Given the description of an element on the screen output the (x, y) to click on. 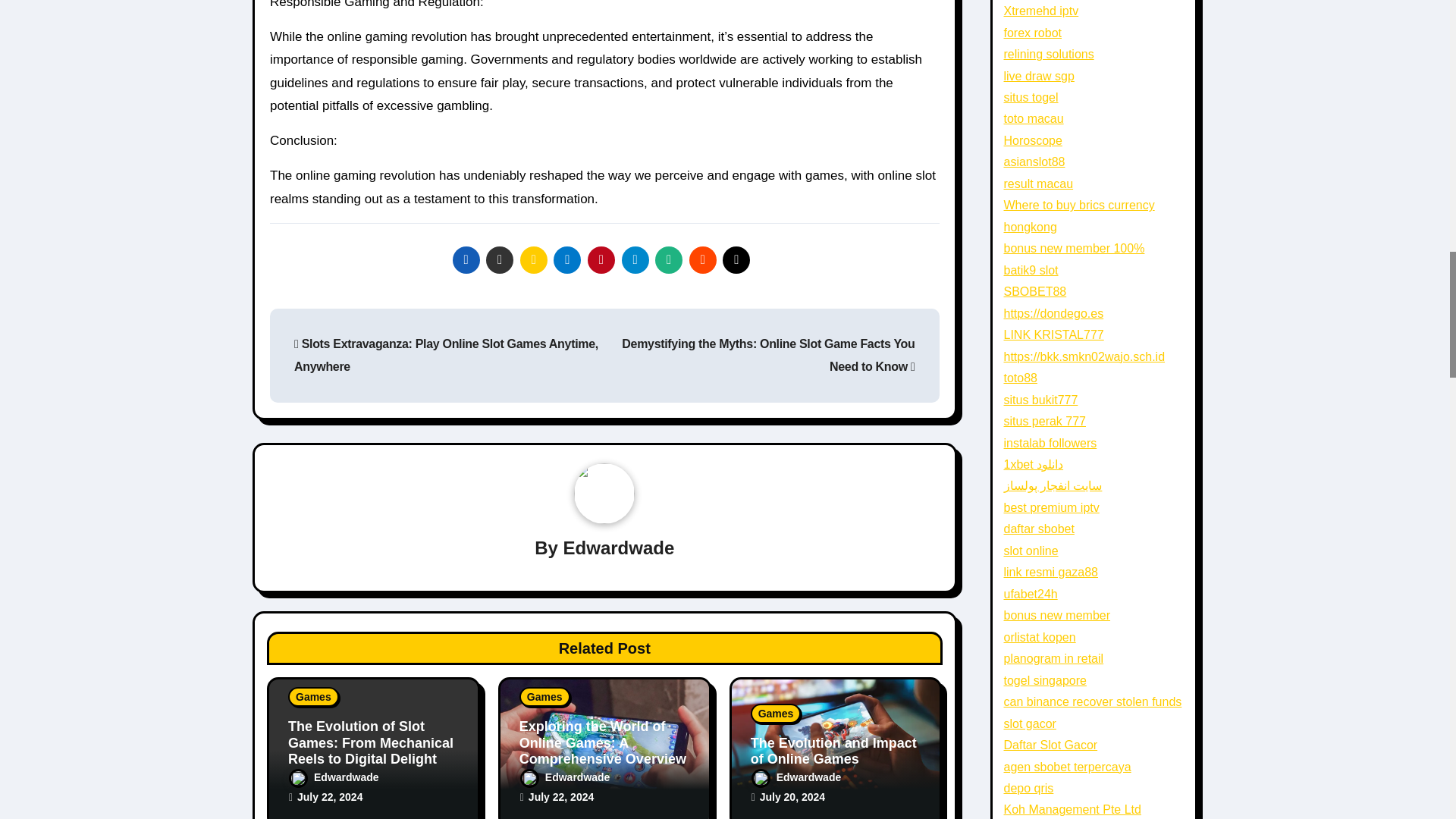
Edwardwade (619, 547)
Edwardwade (333, 776)
July 22, 2024 (329, 797)
Games (313, 696)
Slots Extravaganza: Play Online Slot Games Anytime, Anywhere (446, 355)
Permalink to: The Evolution and Impact of Online Games (834, 751)
